Given the description of an element on the screen output the (x, y) to click on. 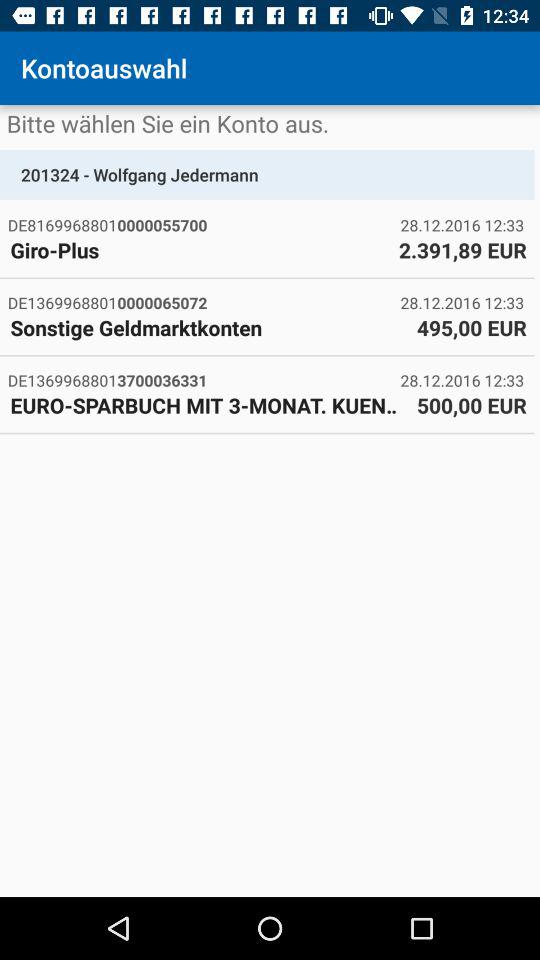
select sonstige geldmarktkonten item (208, 327)
